Given the description of an element on the screen output the (x, y) to click on. 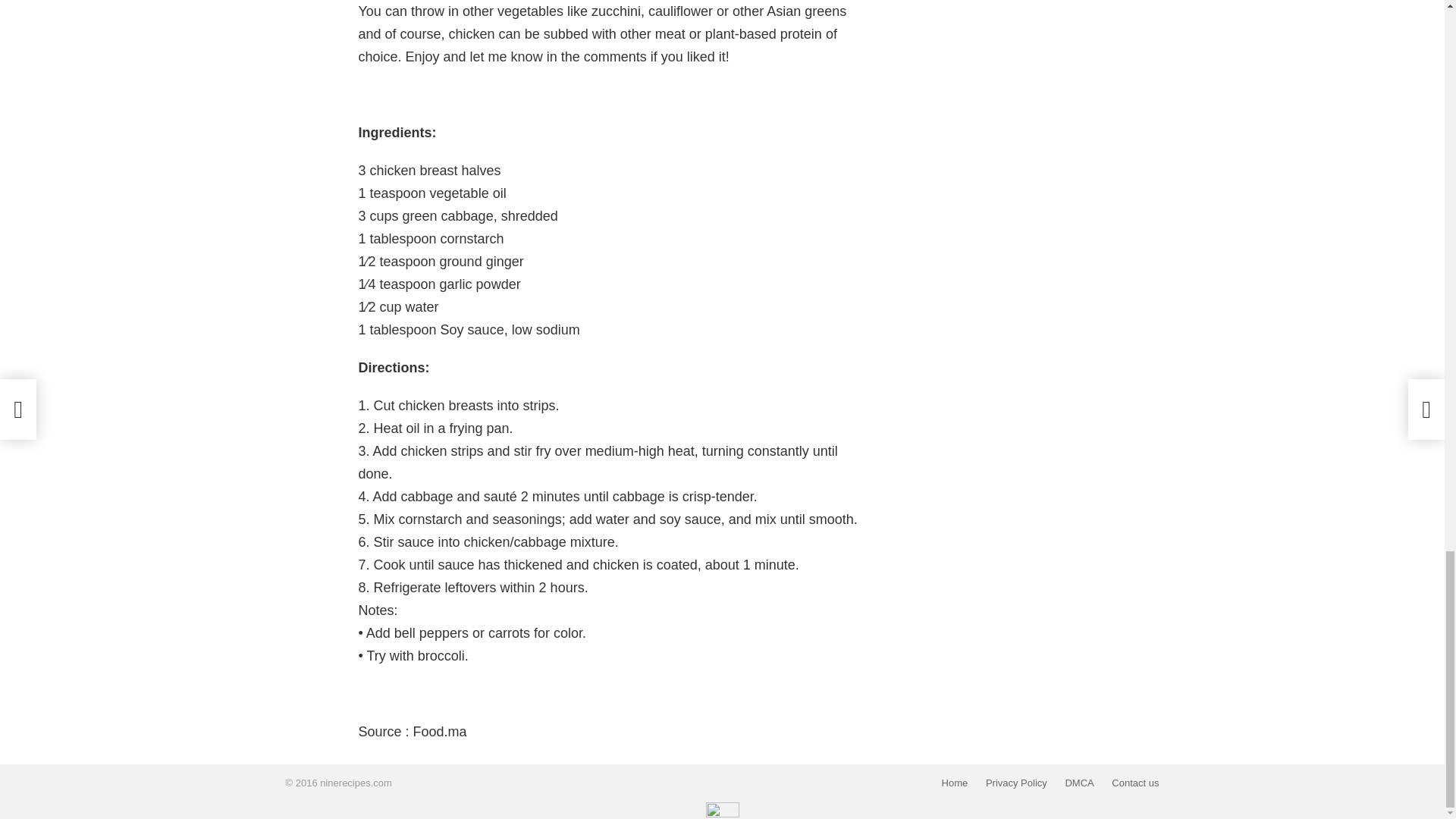
Contact us (1134, 783)
DMCA (1078, 783)
Home (954, 783)
Privacy Policy (1016, 783)
